Given the description of an element on the screen output the (x, y) to click on. 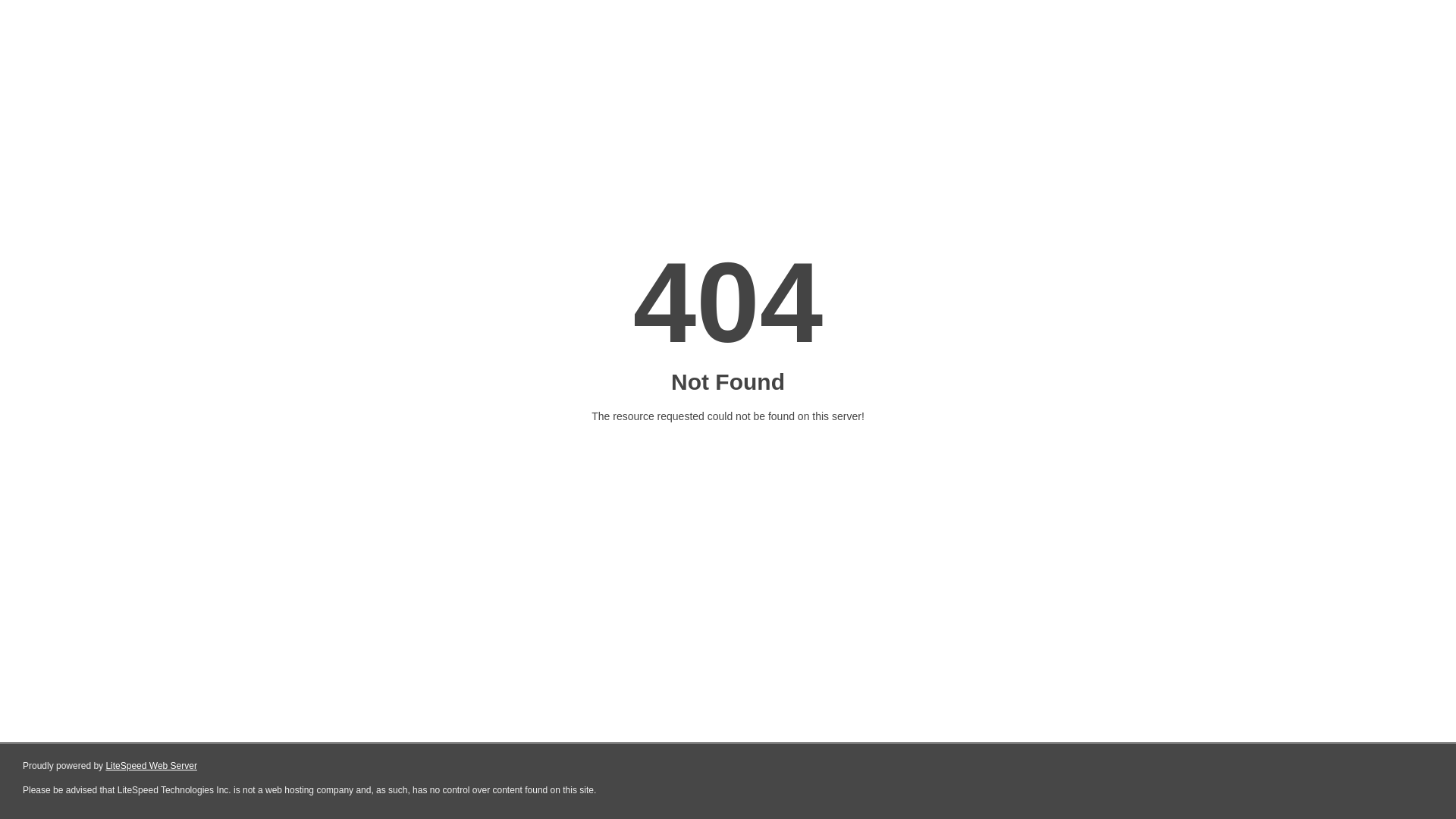
LiteSpeed Web Server Element type: text (151, 765)
